Given the description of an element on the screen output the (x, y) to click on. 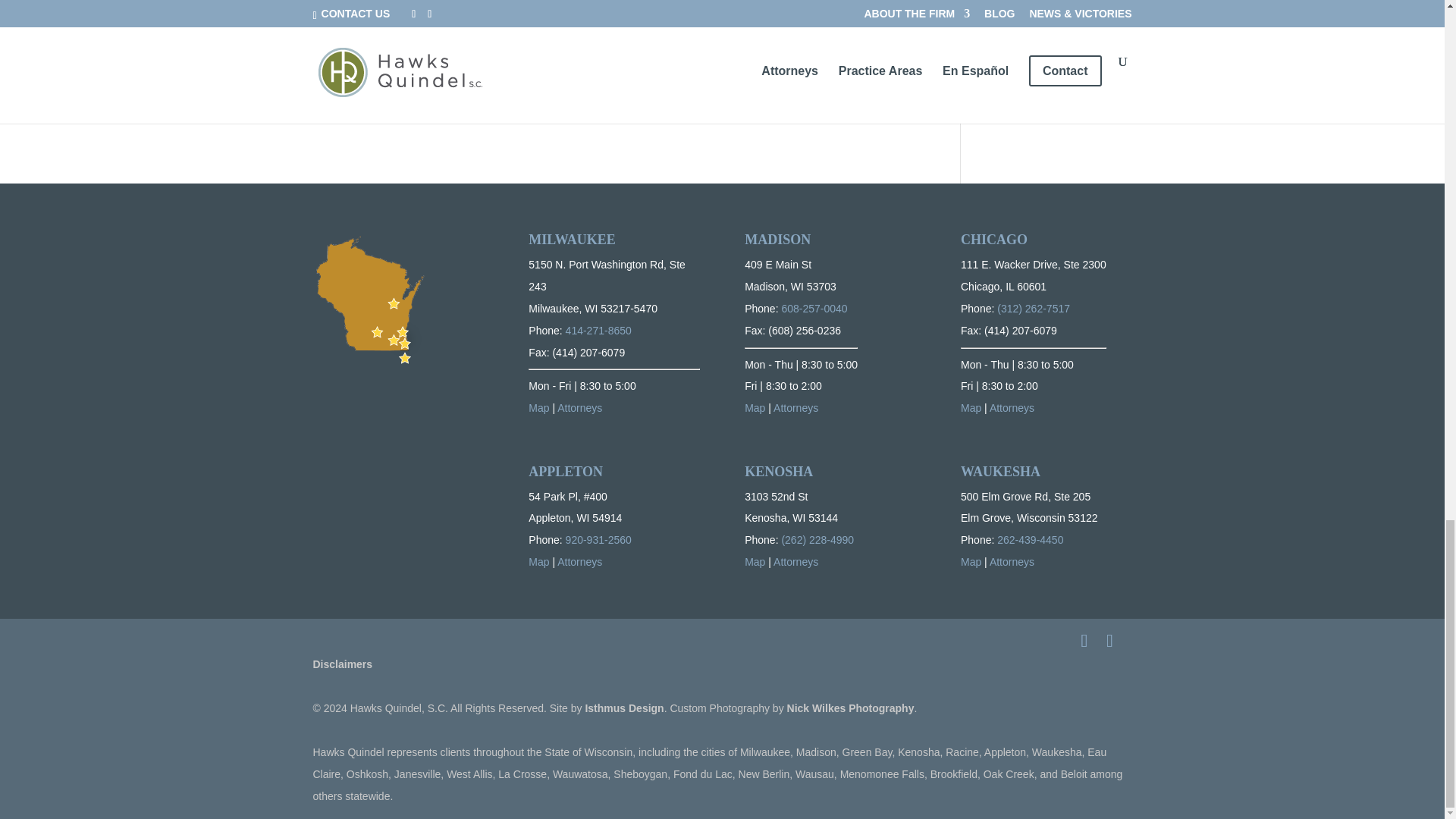
Aaron Halstead (351, 36)
